Given the description of an element on the screen output the (x, y) to click on. 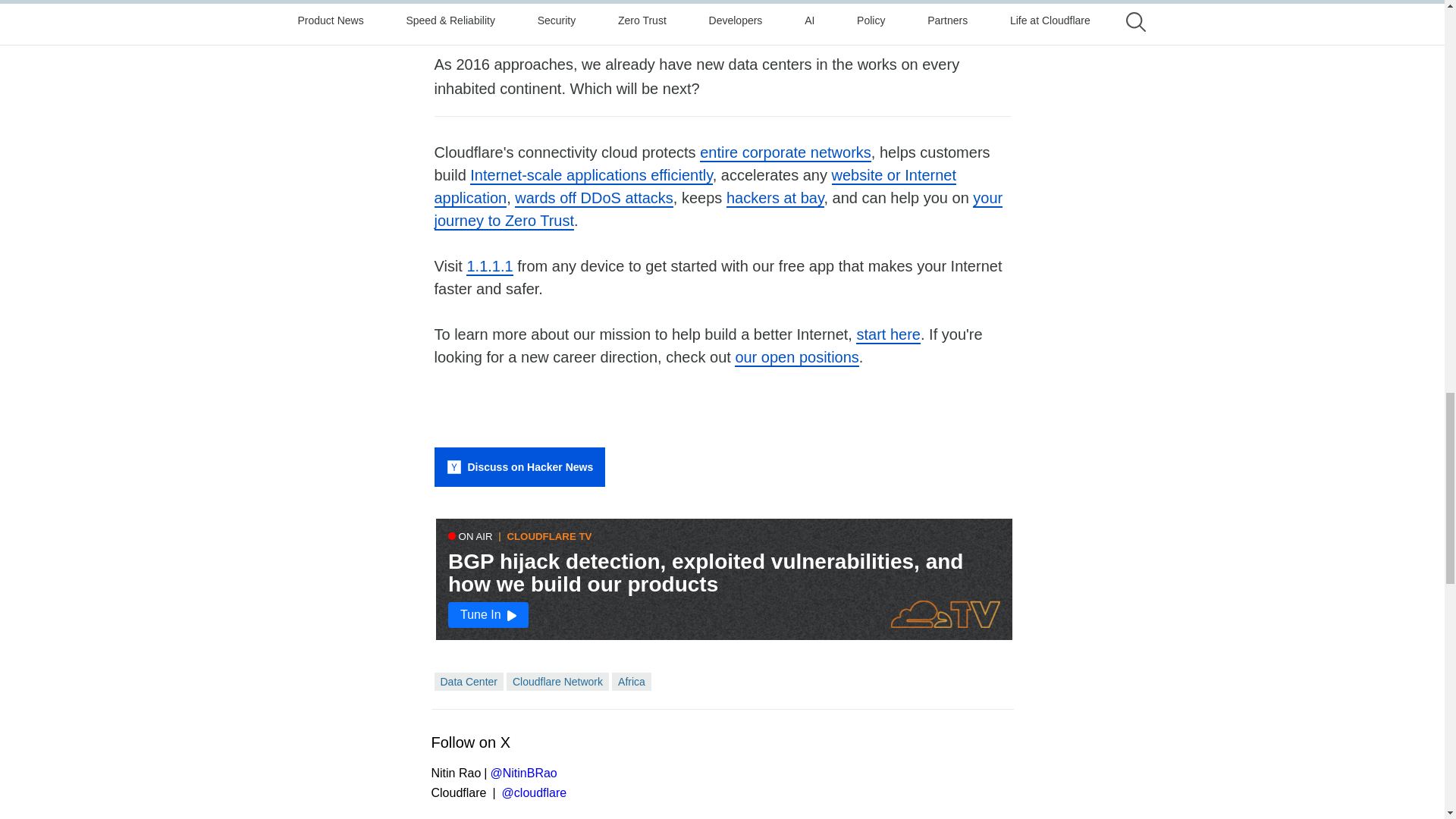
Internet-scale applications efficiently (590, 176)
hackers at bay (775, 198)
entire corporate networks (785, 153)
start here (888, 334)
peering team (723, 25)
Discuss on Hacker News (519, 466)
1.1.1.1 (488, 266)
website or Internet application (694, 187)
wards off DDoS attacks (593, 198)
cloudflare-tv-live-link (723, 578)
